Given the description of an element on the screen output the (x, y) to click on. 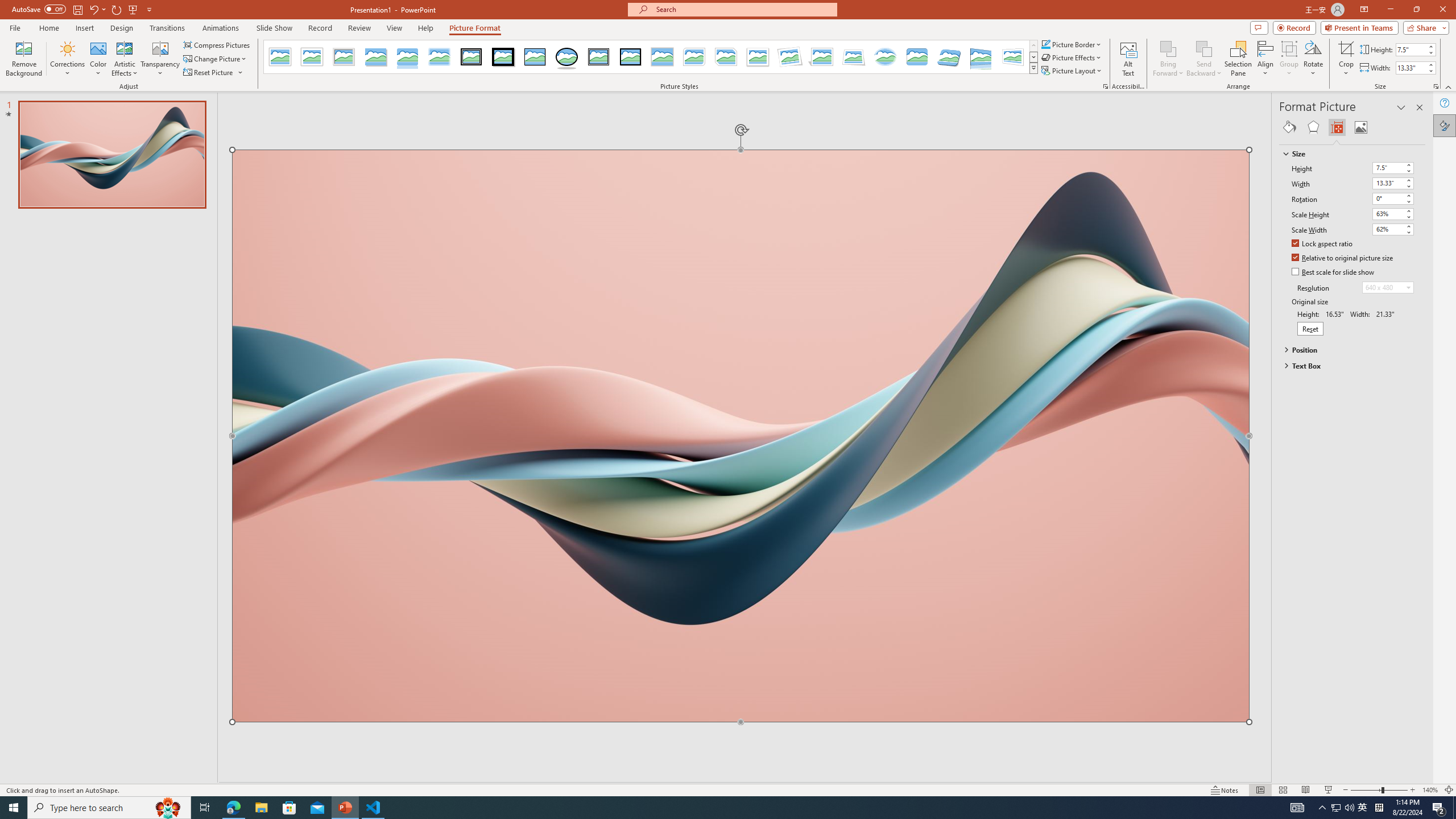
Position (1347, 349)
Bevel Perspective (949, 56)
Height (1388, 167)
Scale Width (1388, 229)
Selection Pane... (1238, 58)
Metal Frame (343, 56)
Reset (1310, 328)
Drop Shadow Rectangle (375, 56)
Send Backward (1204, 58)
